Given the description of an element on the screen output the (x, y) to click on. 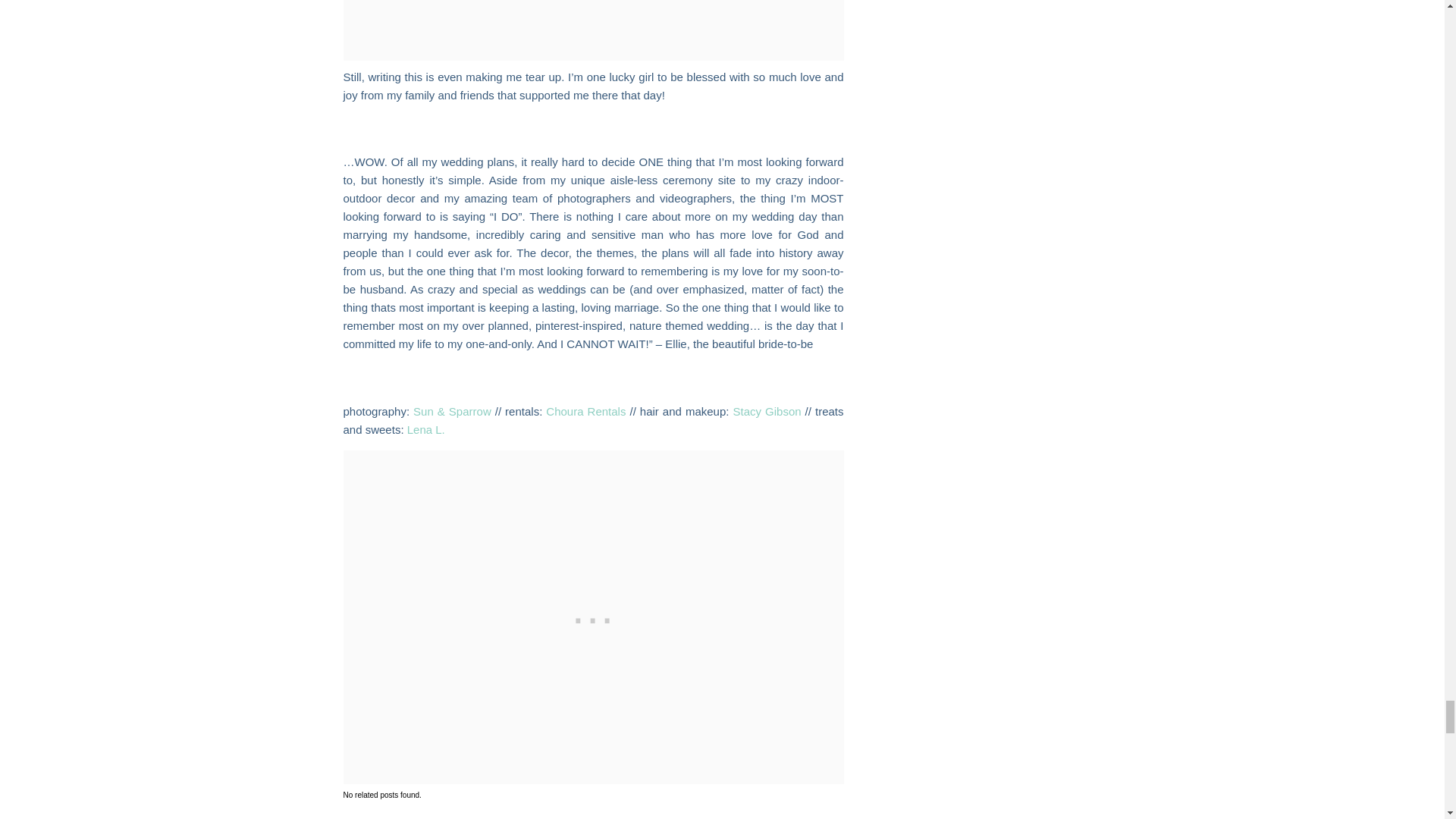
Stacy Gibson (766, 410)
Lena L. (426, 429)
Choura Rentals (586, 410)
